Given the description of an element on the screen output the (x, y) to click on. 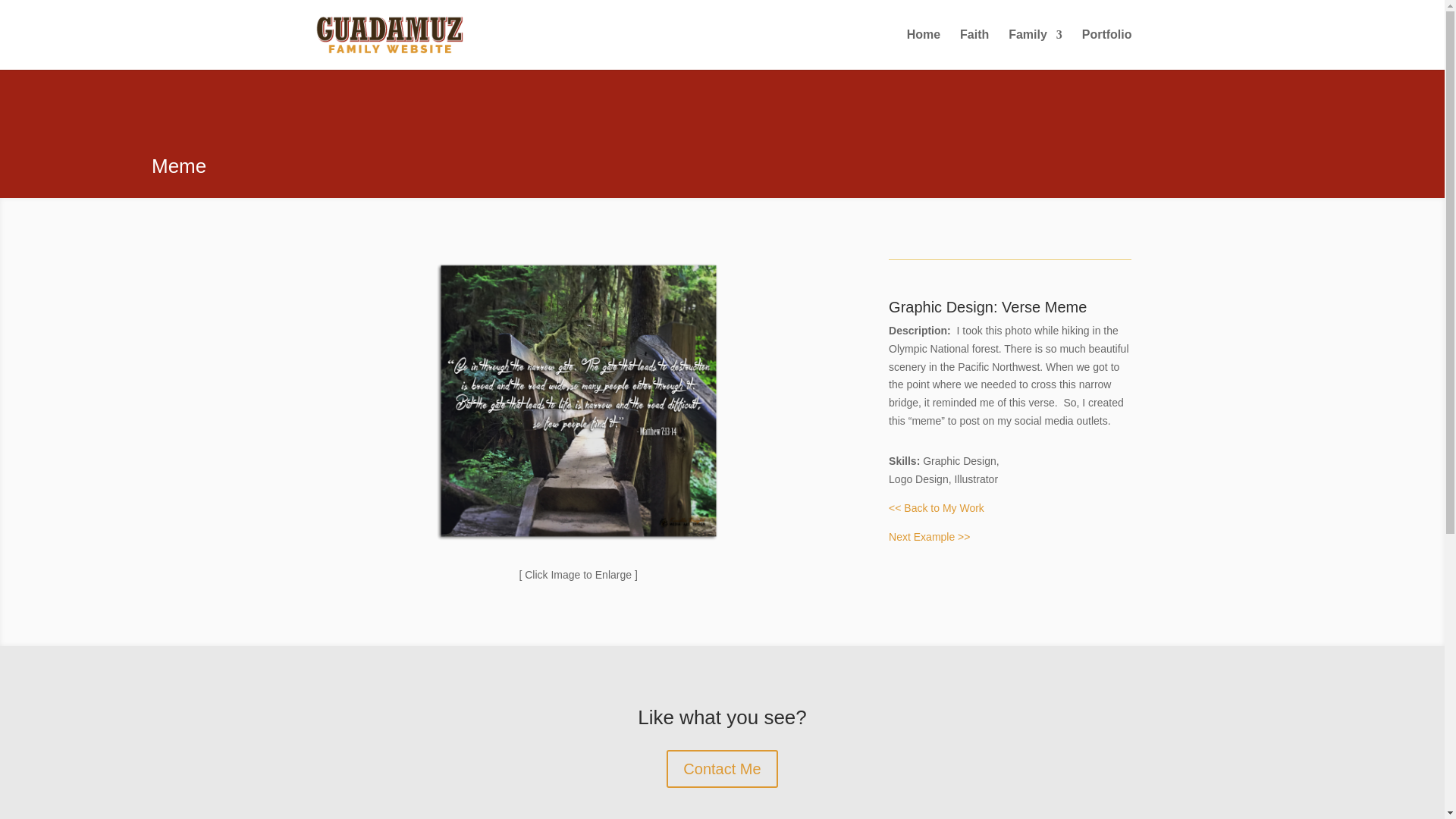
Portfolio (1106, 49)
Family (1035, 49)
Contact Me (721, 768)
